Given the description of an element on the screen output the (x, y) to click on. 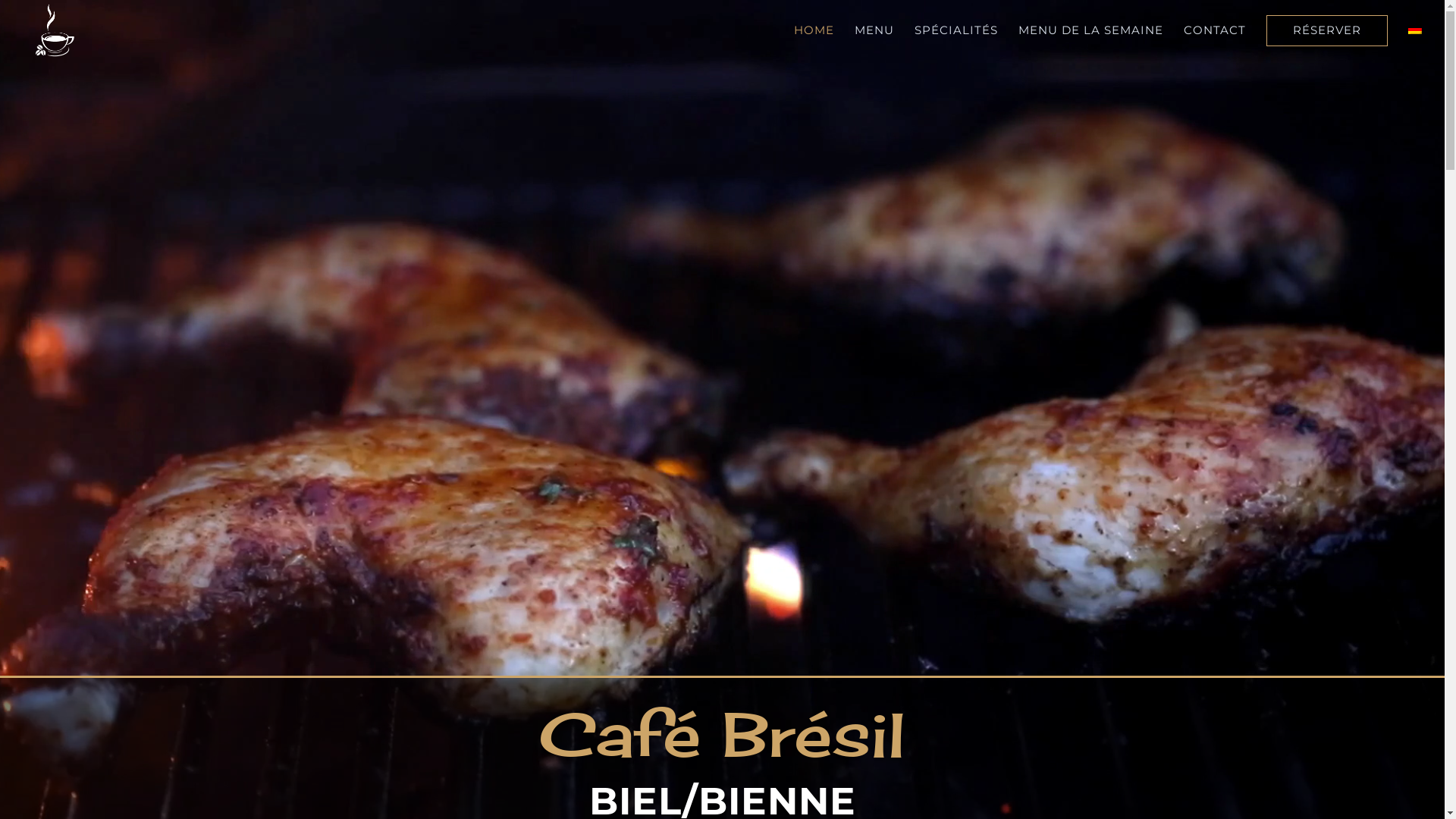
MENU Element type: text (874, 30)
MENU DE LA SEMAINE Element type: text (1090, 33)
HOME Element type: text (813, 30)
CONTACT Element type: text (1214, 33)
